Given the description of an element on the screen output the (x, y) to click on. 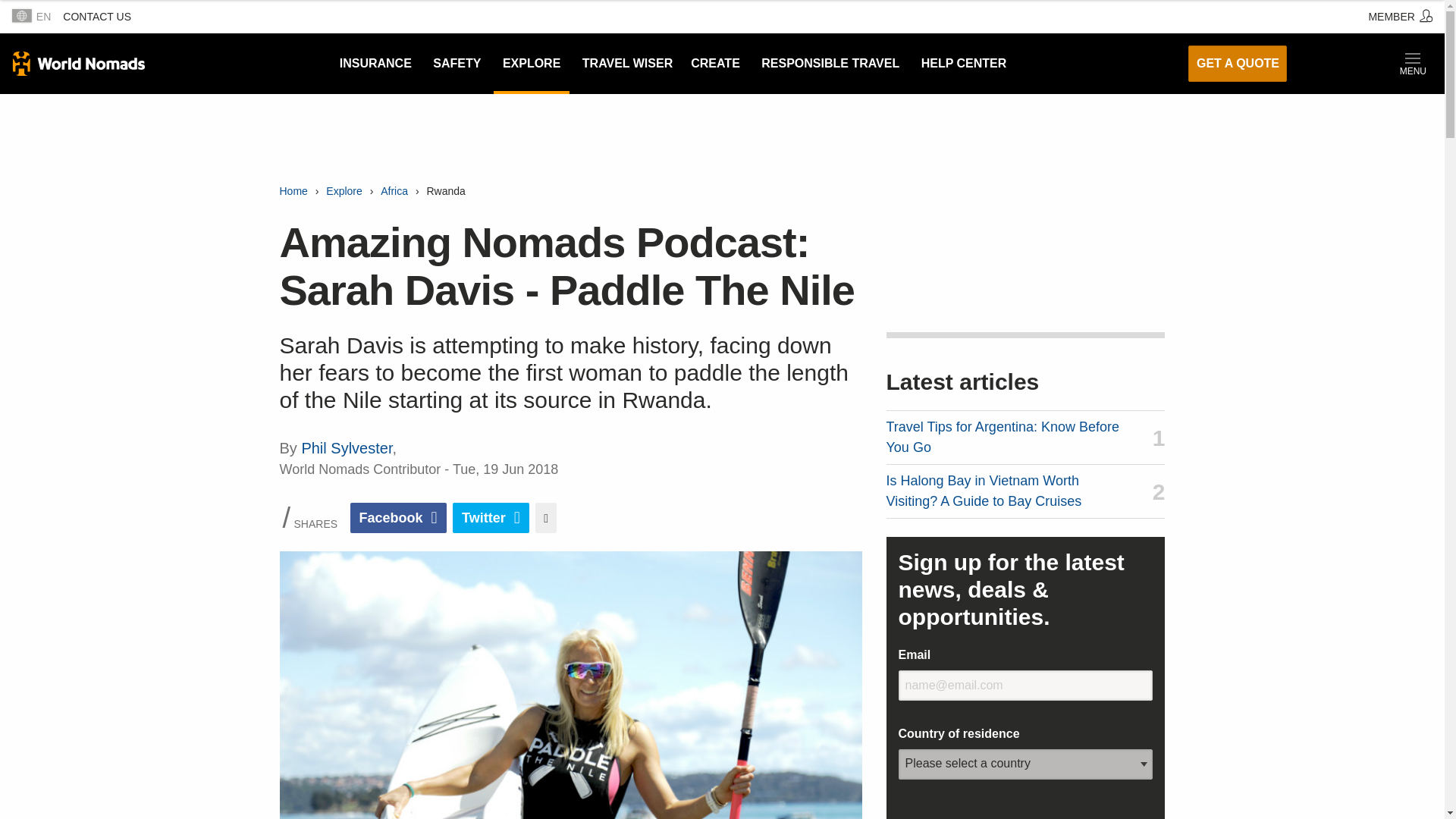
SAFETY (456, 63)
MEMBER (1399, 16)
Flag of Global (21, 15)
World Nomads (78, 63)
RESPONSIBLE TRAVEL (830, 63)
CREATE (715, 63)
INSURANCE (375, 63)
EXPLORE (531, 63)
TRAVEL WISER (627, 63)
EN (30, 16)
HELP CENTER (964, 63)
CONTACT US (96, 16)
